Given the description of an element on the screen output the (x, y) to click on. 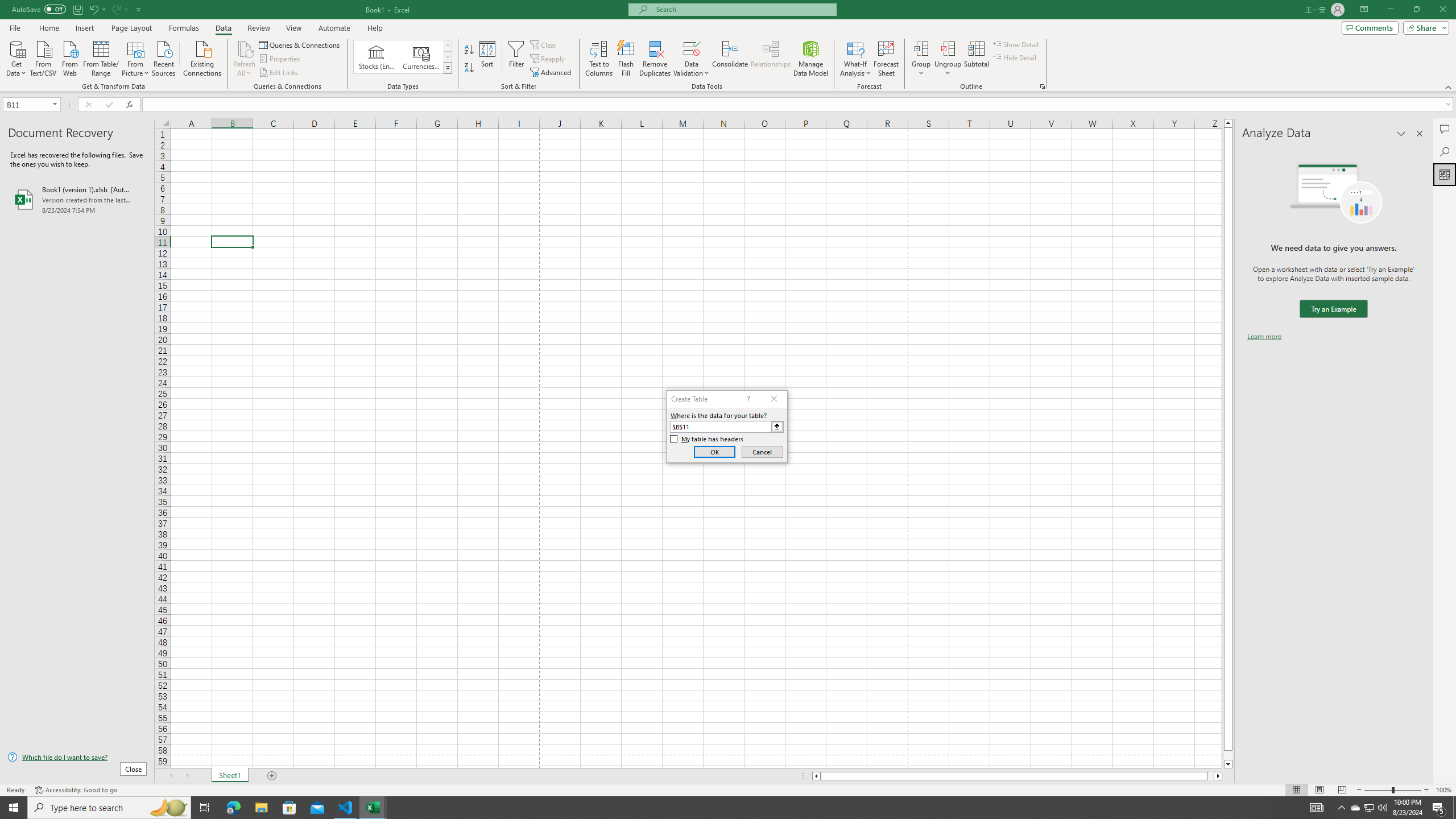
Ribbon Display Options (1364, 9)
Sort A to Z (469, 49)
Minimize (1390, 9)
Edit Links (279, 72)
Advanced... (551, 72)
Data Validation... (691, 48)
Column right (1218, 775)
Forecast Sheet (885, 58)
Close (1442, 9)
Line down (1228, 764)
Scroll Right (187, 775)
Customize Quick Access Toolbar (139, 9)
Data (223, 28)
From Web (69, 57)
